Given the description of an element on the screen output the (x, y) to click on. 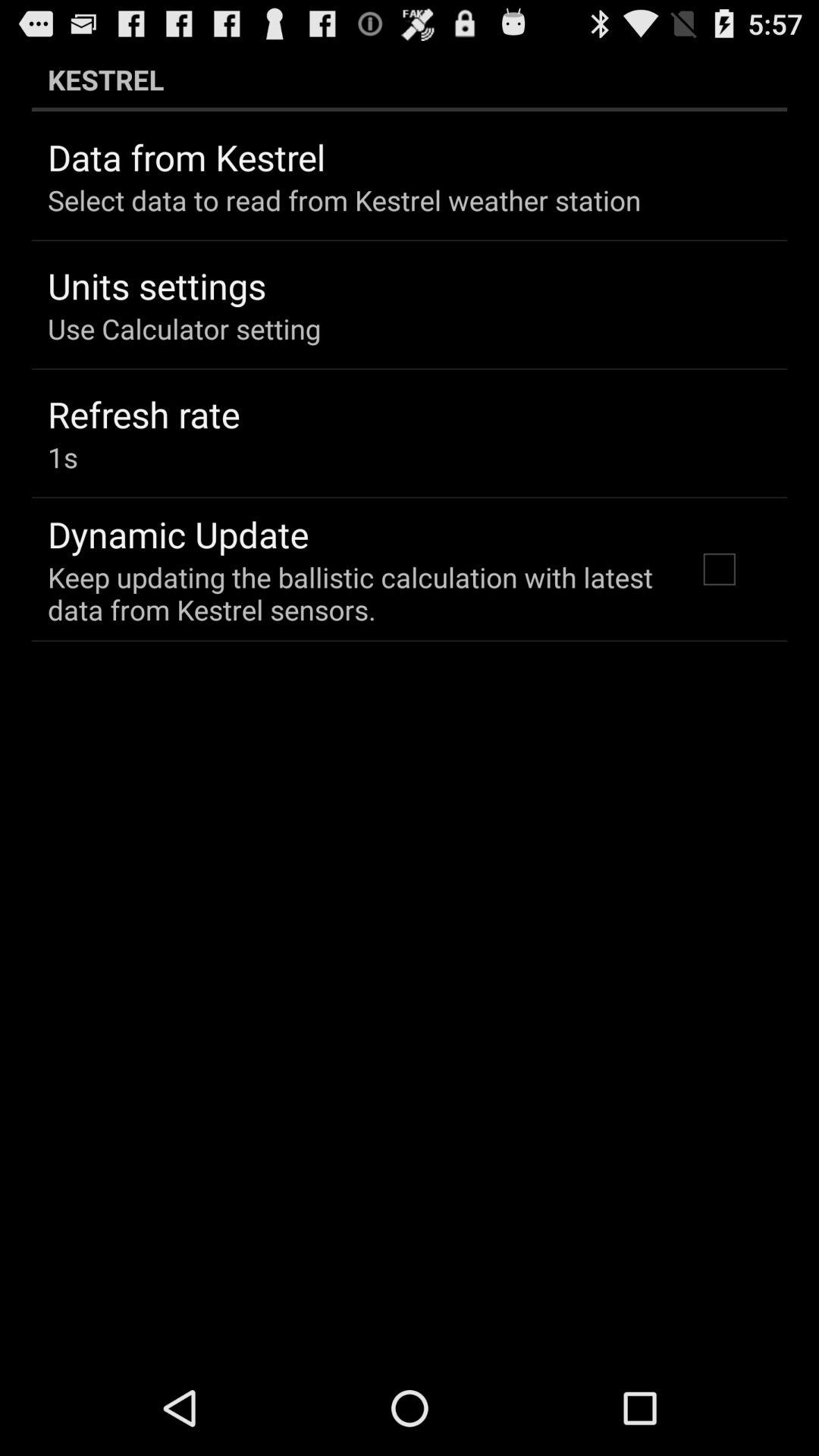
press the dynamic update on the left (177, 534)
